Given the description of an element on the screen output the (x, y) to click on. 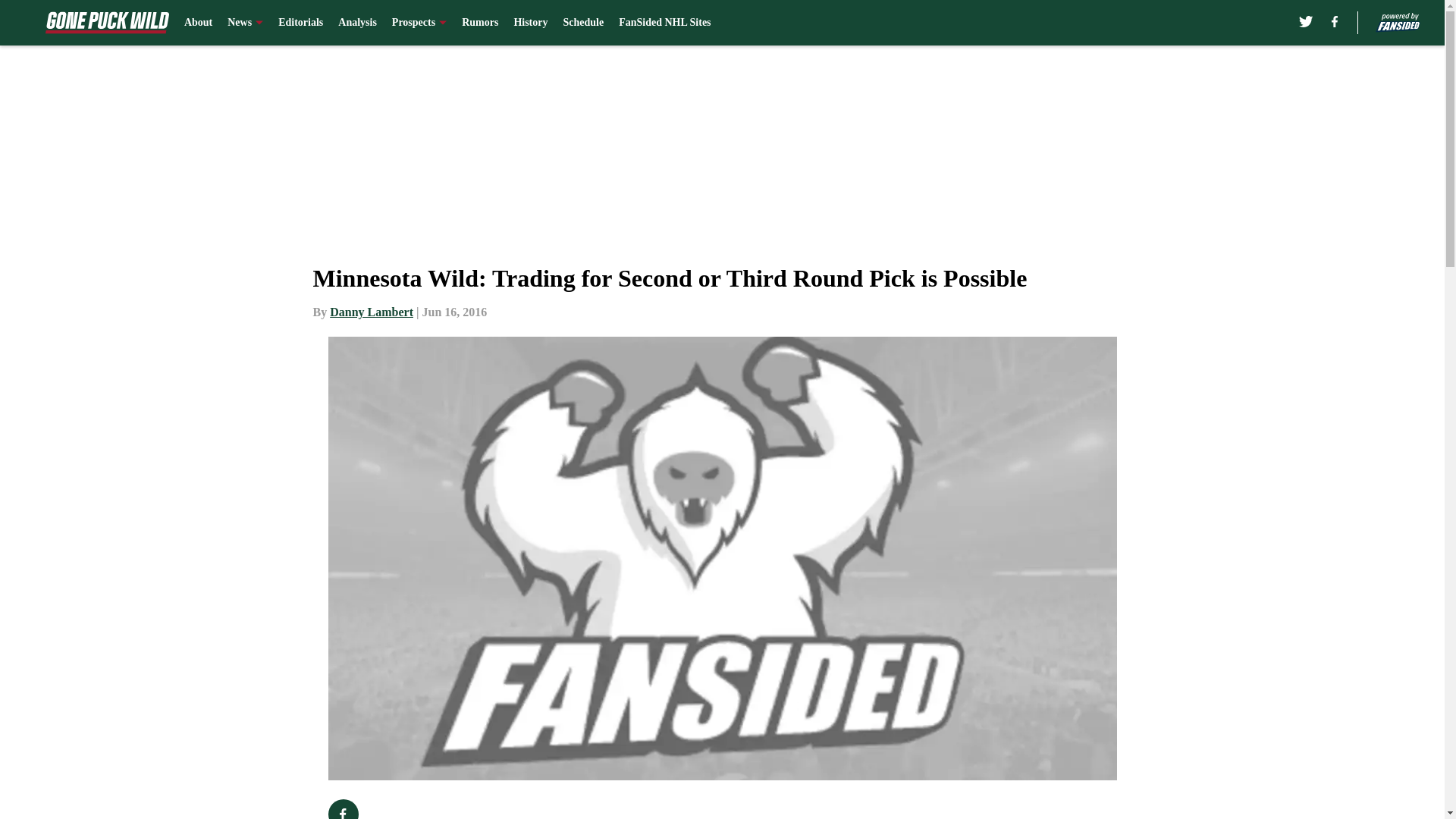
Schedule (583, 22)
Editorials (300, 22)
About (198, 22)
FanSided NHL Sites (664, 22)
Danny Lambert (371, 311)
History (530, 22)
Rumors (479, 22)
Analysis (357, 22)
